Given the description of an element on the screen output the (x, y) to click on. 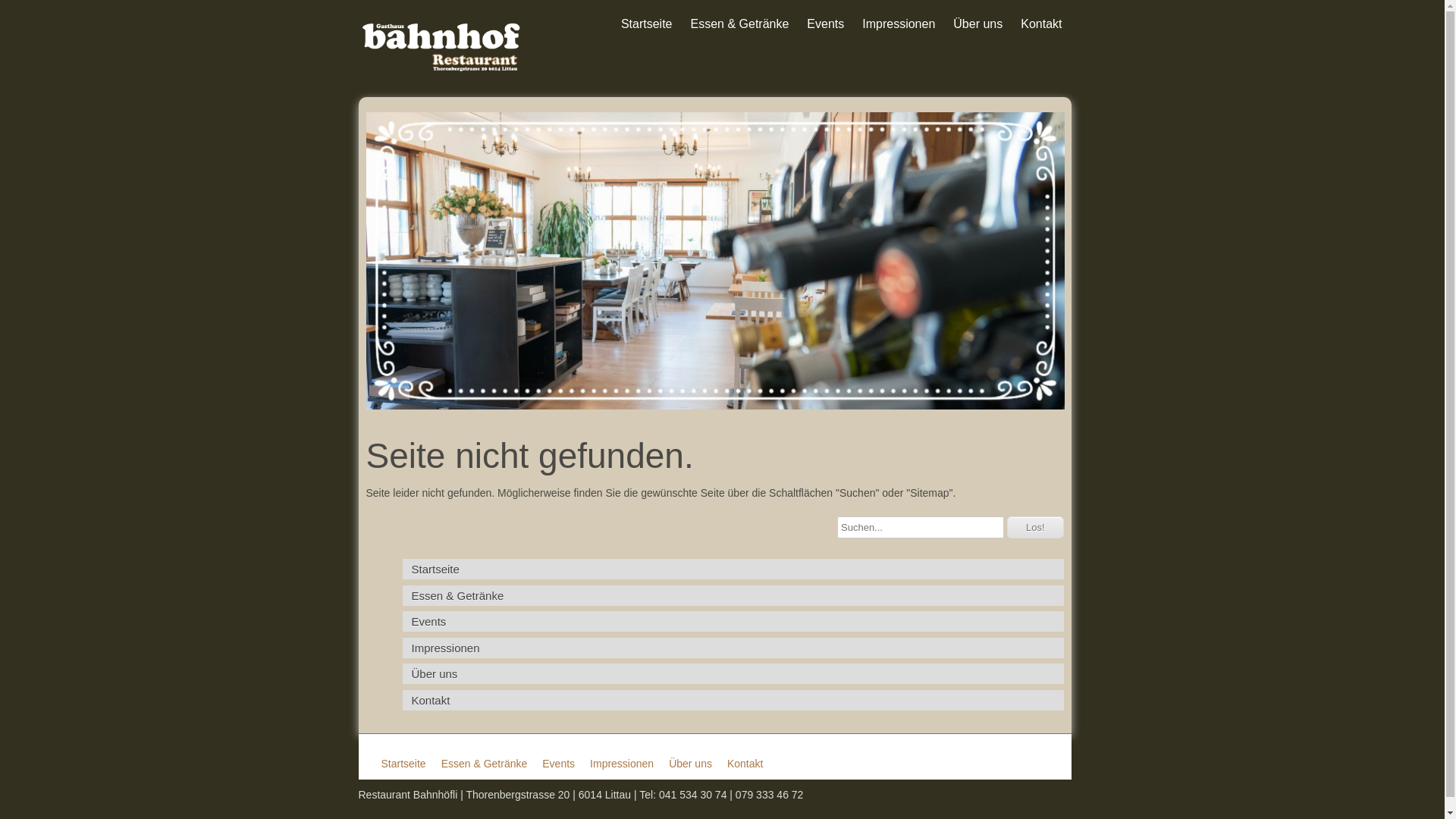
Events Element type: text (825, 23)
Startseite Element type: text (732, 568)
Startseite Element type: text (646, 23)
Impressionen Element type: text (621, 762)
Kontakt Element type: text (1041, 23)
Los! Element type: text (1035, 526)
Events Element type: text (558, 762)
Events Element type: text (732, 621)
Impressionen Element type: text (898, 23)
Startseite Element type: text (402, 762)
Kontakt Element type: text (732, 700)
Kontakt Element type: text (744, 762)
Impressionen Element type: text (732, 647)
